Given the description of an element on the screen output the (x, y) to click on. 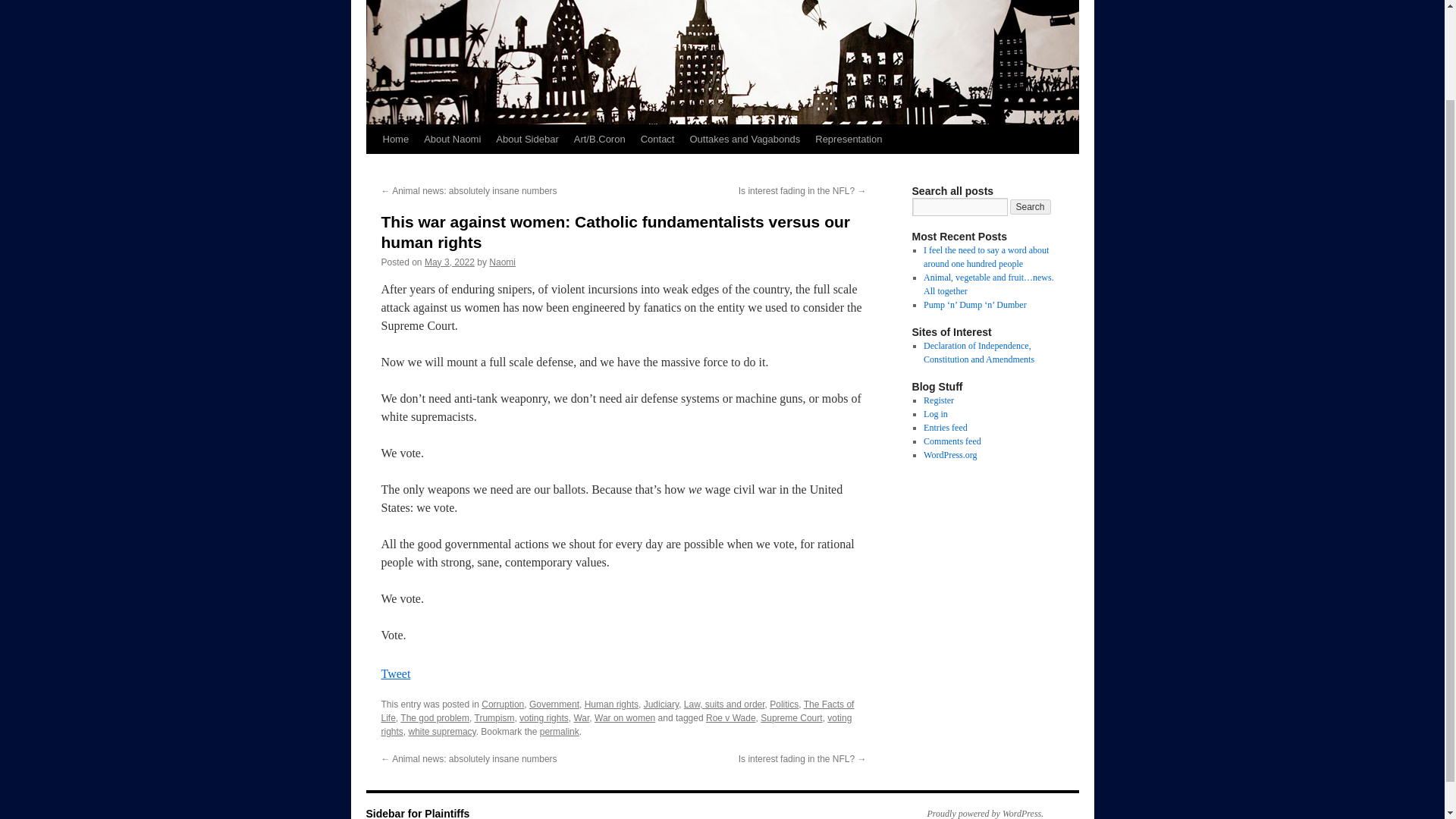
Contact (657, 139)
Naomi (502, 262)
The entire text of the Declaration of Independence (978, 352)
Government (554, 704)
Judiciary (660, 704)
Law, suits and order (724, 704)
Home (395, 139)
Outtakes and Vagabonds (744, 139)
permalink (559, 731)
